Given the description of an element on the screen output the (x, y) to click on. 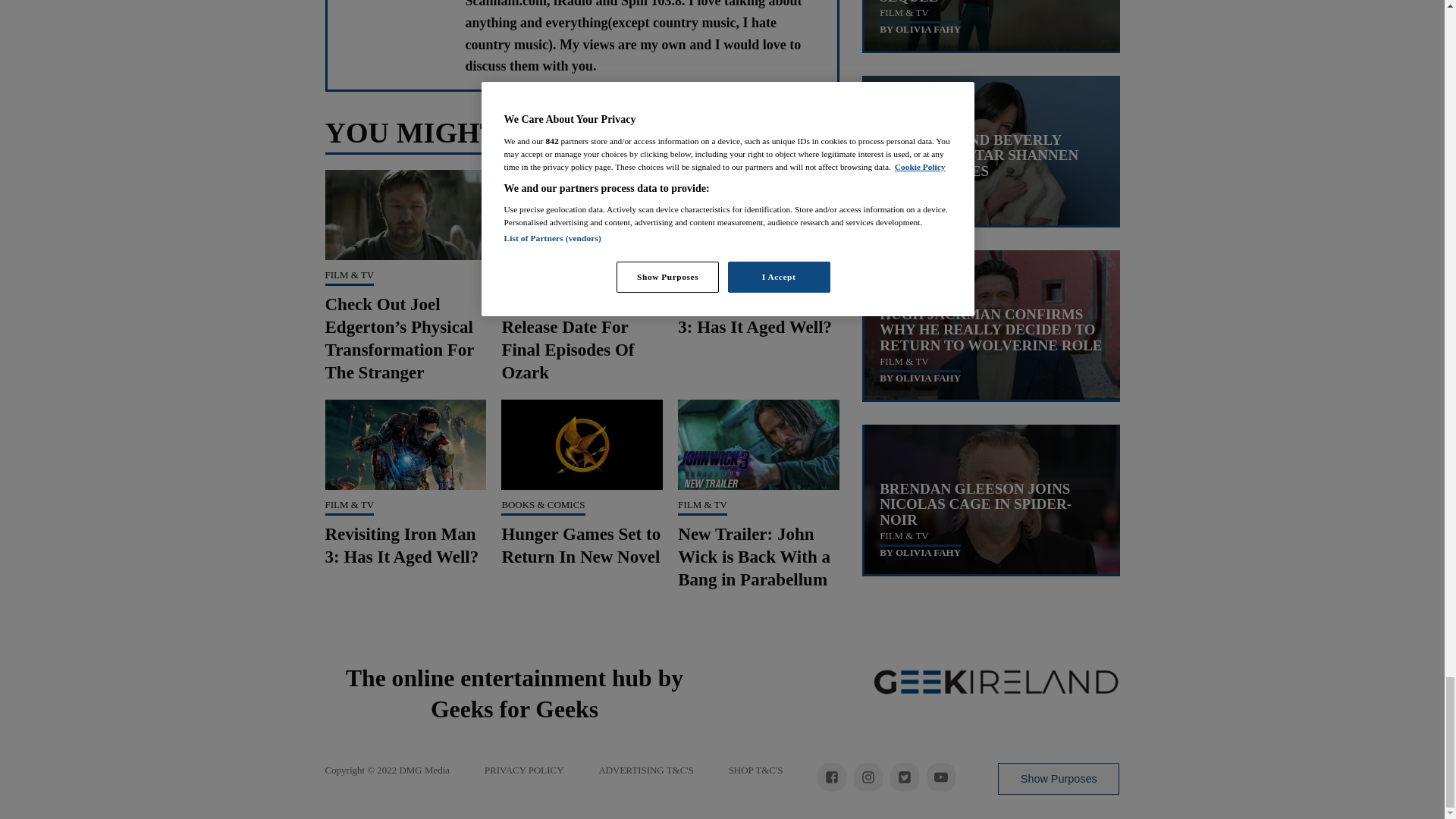
Hunger Games Set to Return In New Novel (580, 545)
Revisiting Iron Man 3: Has It Aged Well? (754, 315)
Revisiting Iron Man 3: Has It Aged Well? (401, 545)
Netflix Confirms Release Date For Final Episodes Of Ozark (566, 338)
New Trailer: John Wick is Back With a Bang in Parabellum (753, 556)
